Given the description of an element on the screen output the (x, y) to click on. 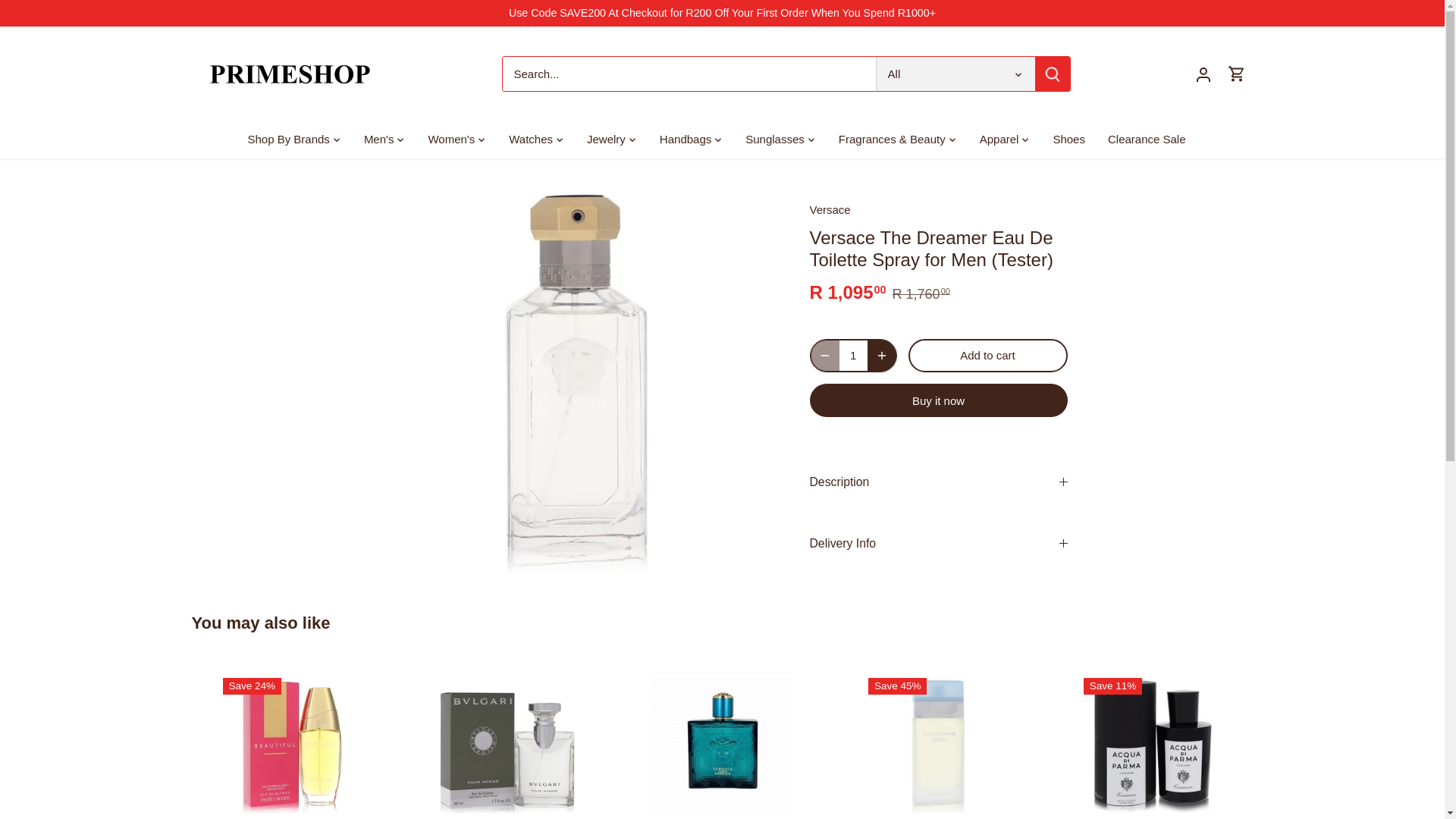
1 (852, 355)
Shop By Brands (293, 139)
Men's (379, 139)
